Given the description of an element on the screen output the (x, y) to click on. 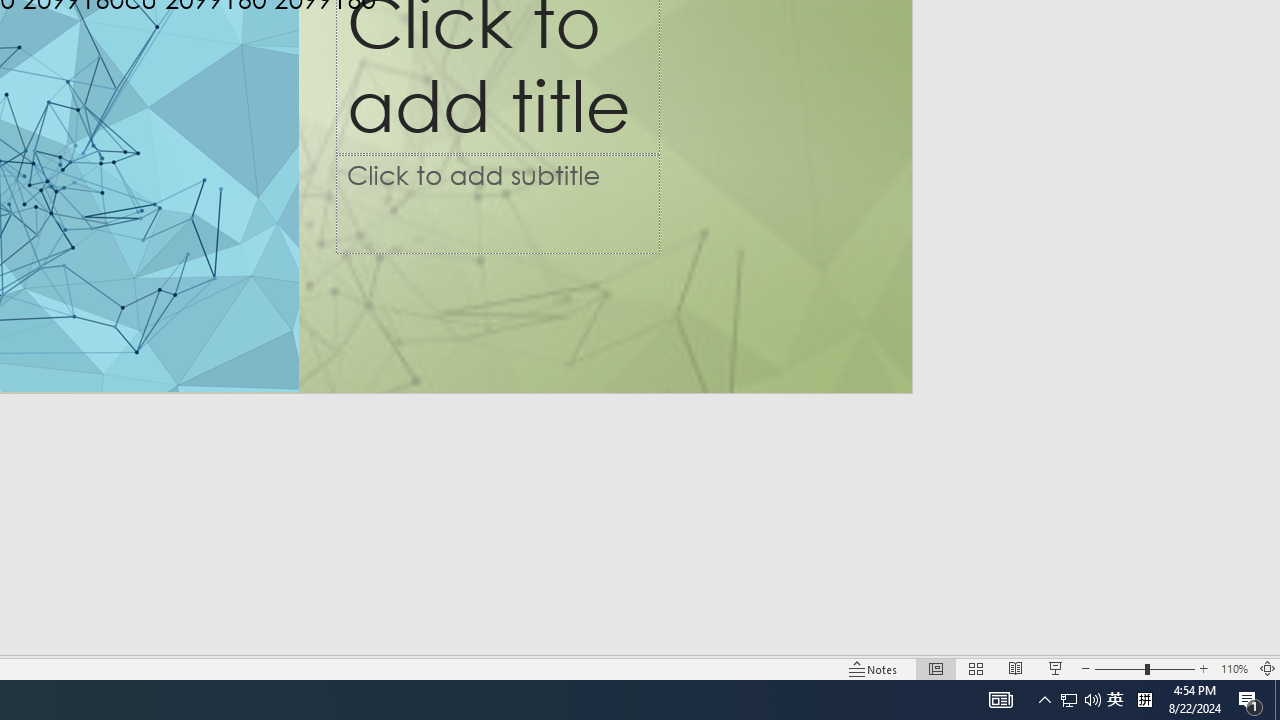
Zoom 110% (1069, 699)
